Given the description of an element on the screen output the (x, y) to click on. 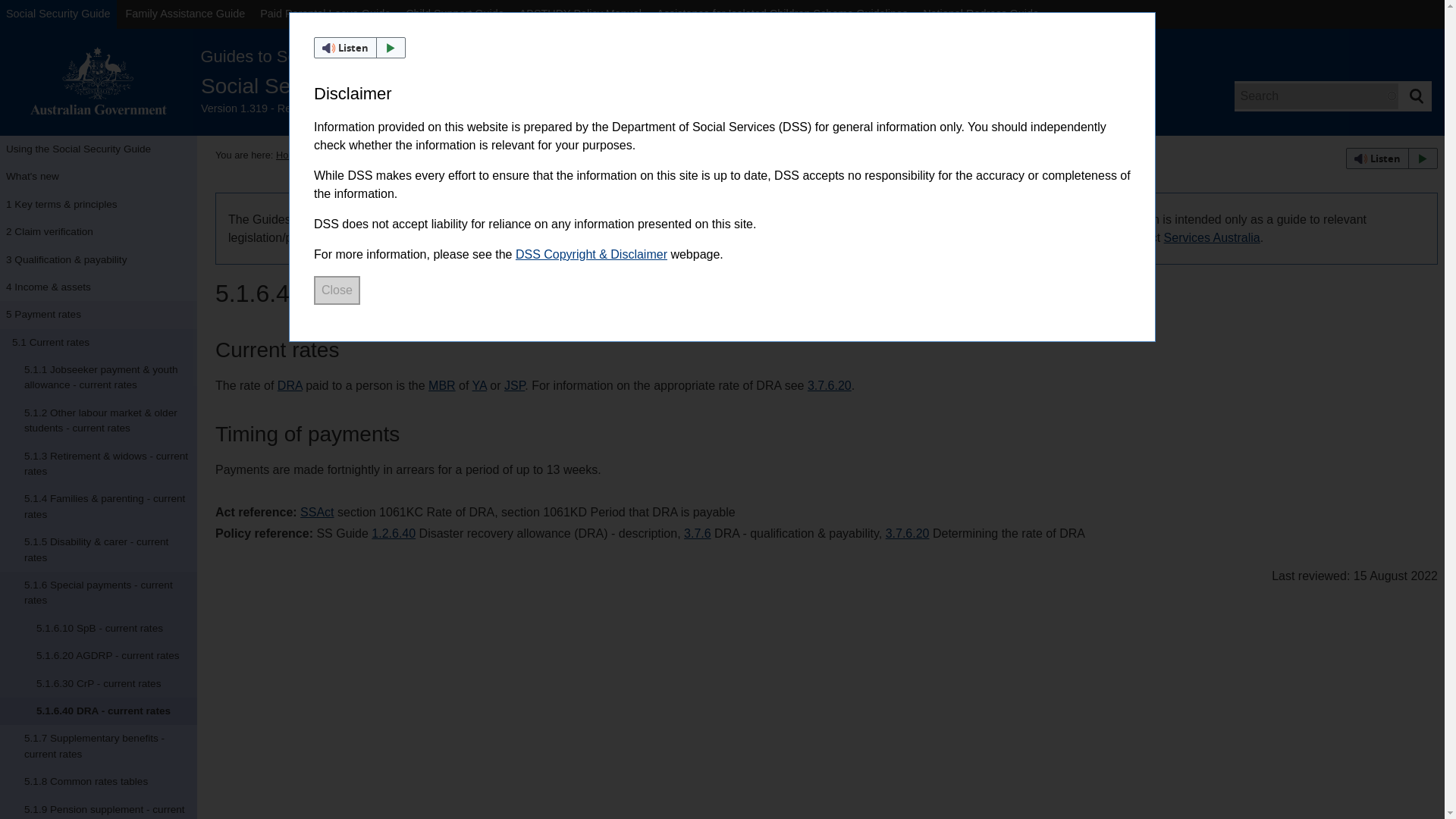
Social Security Act 1991 (316, 512)
2 Claim verification (98, 231)
Using the Social Security Guide (98, 148)
5.1.6 Special payments - current rates (98, 593)
Close (336, 290)
Paid Parental Leave Guide (324, 14)
5.1.7 Supplementary benefits - current rates (98, 746)
Youth allowance (478, 385)
5 Payment rates (98, 314)
5.1.6.40 DRA - current rates (98, 710)
